Given the description of an element on the screen output the (x, y) to click on. 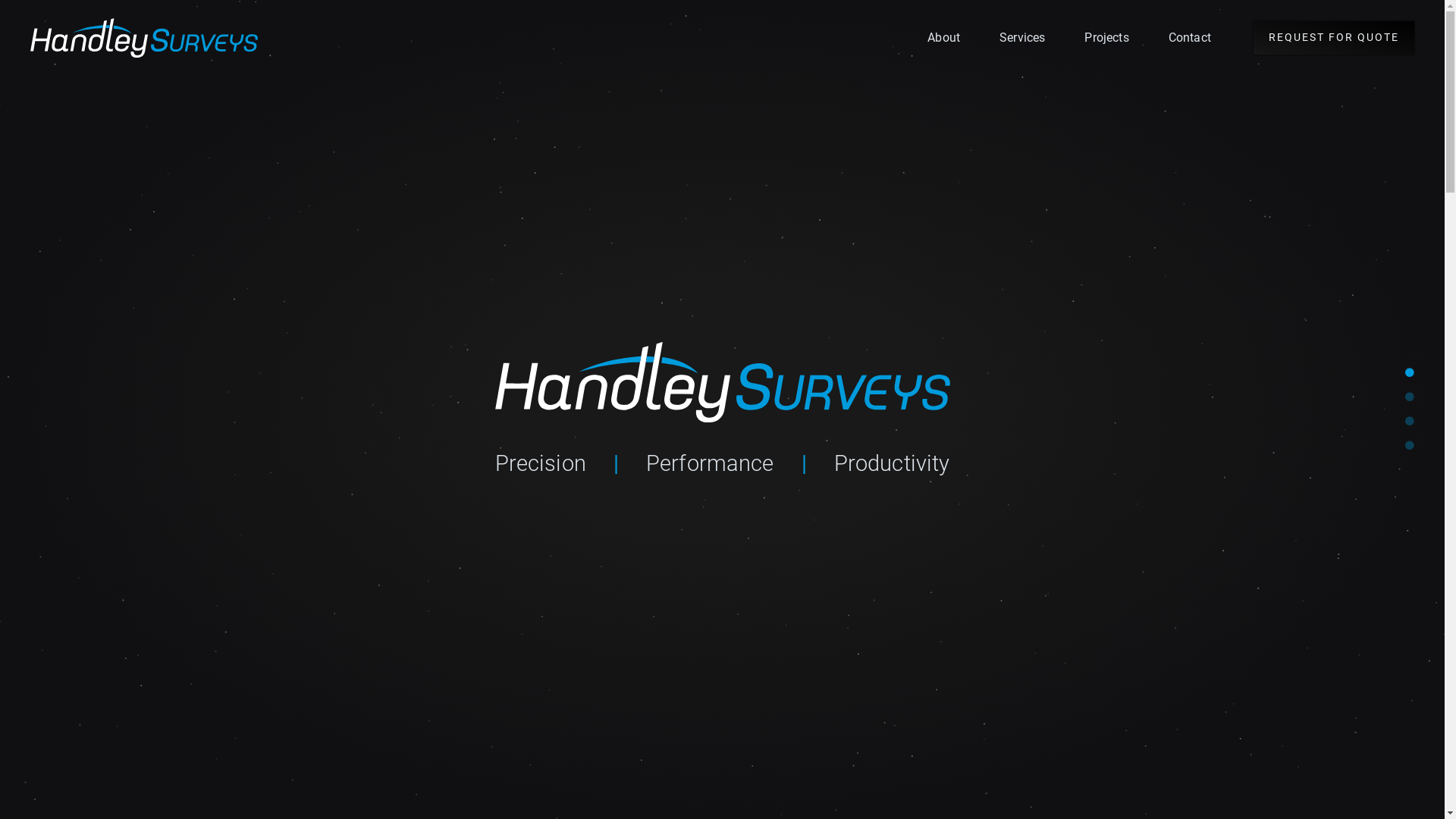
About Element type: text (943, 37)
Services Element type: text (1022, 37)
REQUEST FOR QUOTE Element type: text (1333, 37)
Projects Element type: text (1106, 37)
Contact Element type: text (1189, 37)
